Given the description of an element on the screen output the (x, y) to click on. 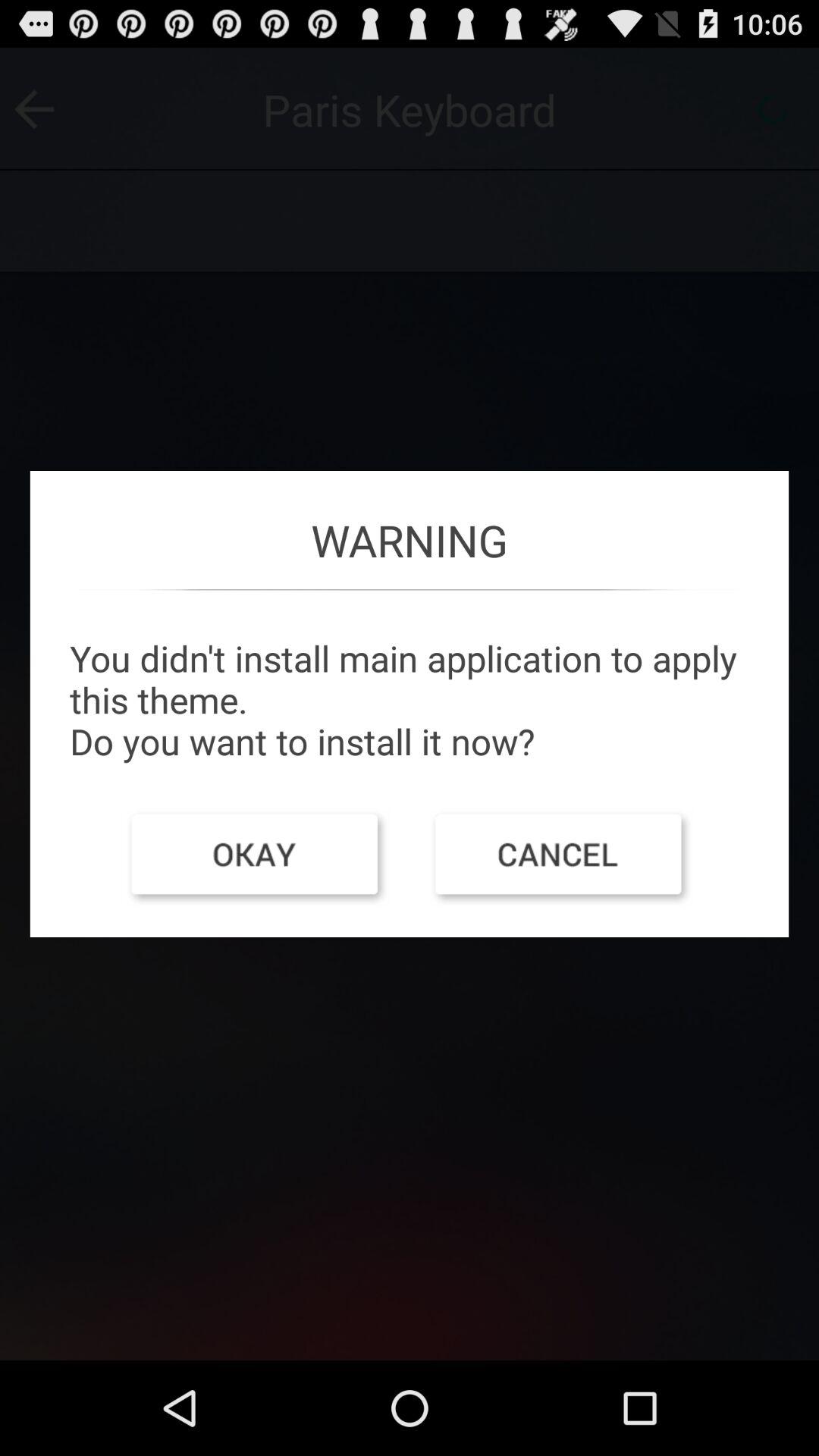
press icon on the right (561, 858)
